Given the description of an element on the screen output the (x, y) to click on. 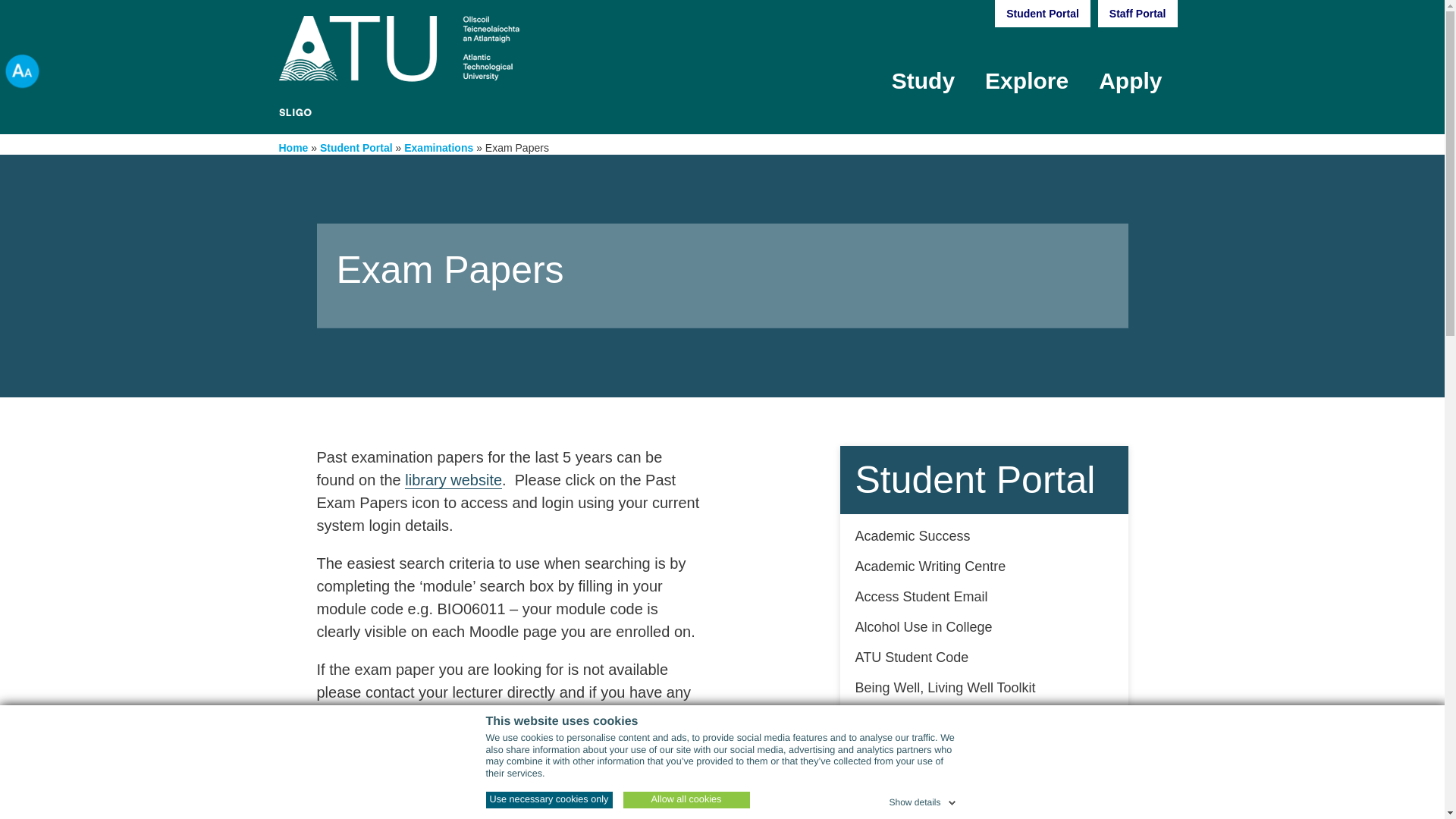
Show details (923, 799)
Use necessary cookies only (547, 799)
Allow all cookies (686, 799)
